Given the description of an element on the screen output the (x, y) to click on. 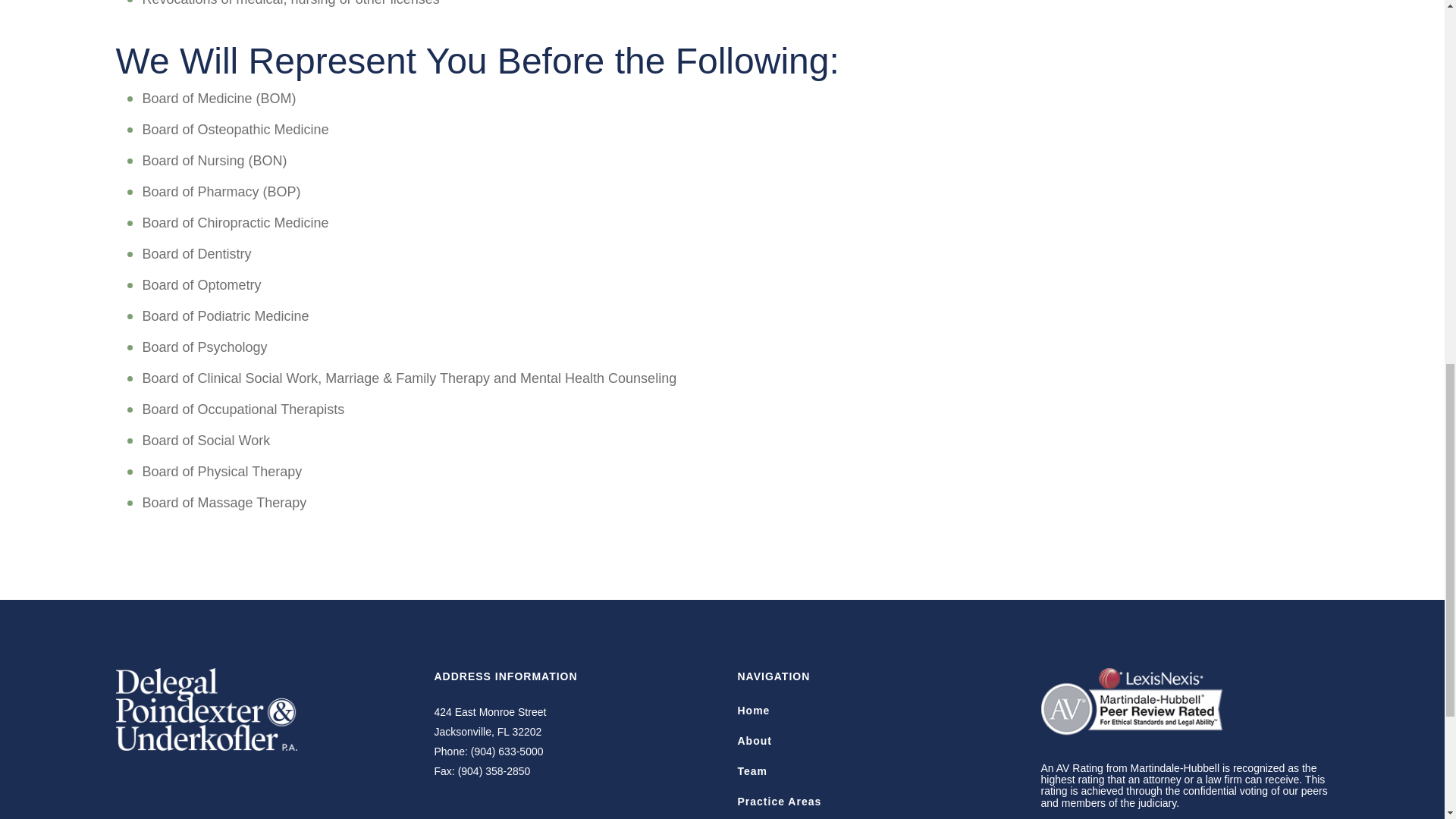
About (753, 740)
Home (489, 721)
Practice Areas (753, 710)
Team (778, 801)
